Given the description of an element on the screen output the (x, y) to click on. 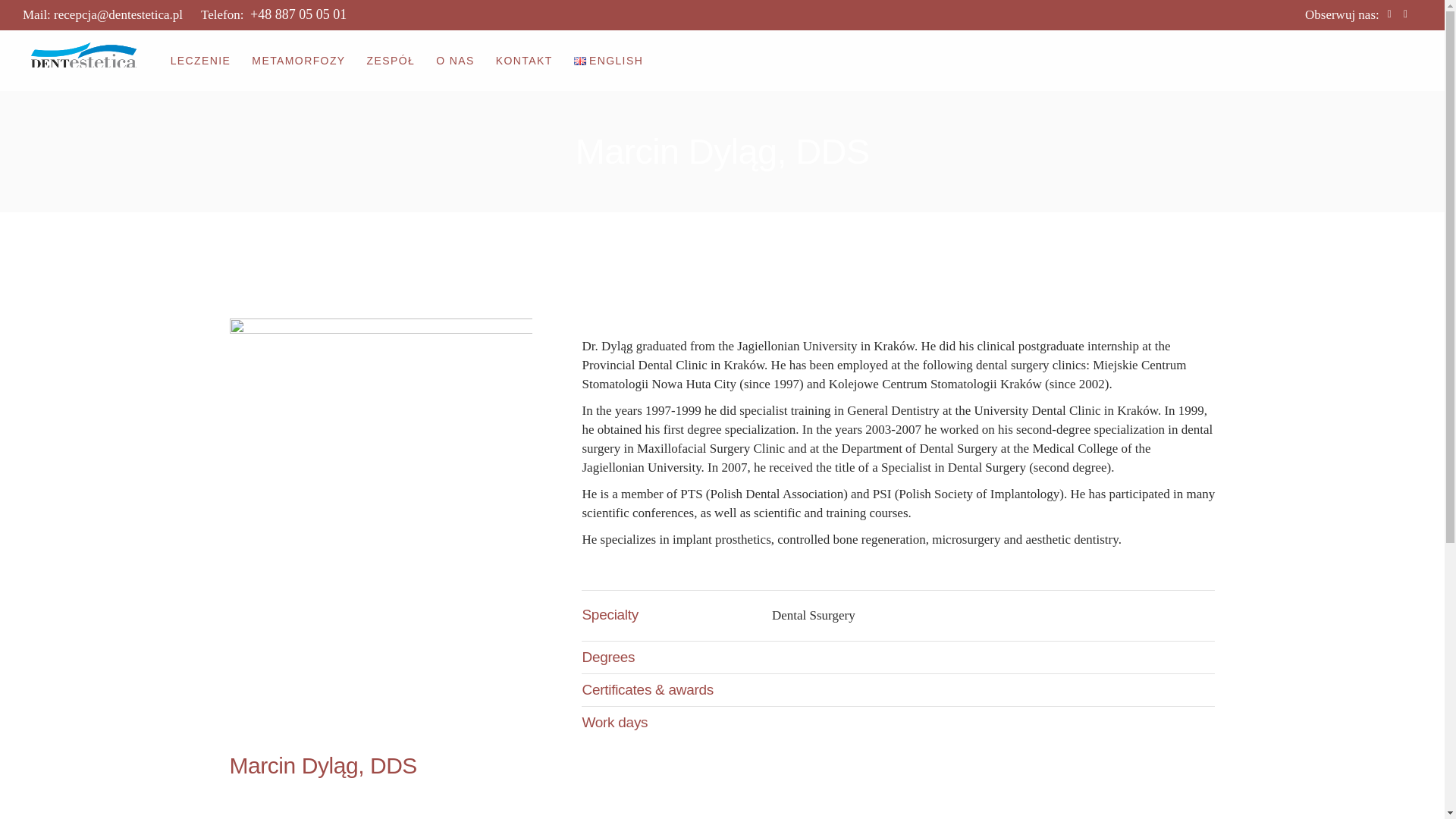
METAMORFOZY (298, 60)
KONTAKT (524, 60)
LECZENIE (200, 60)
ENGLISH (608, 60)
